Given the description of an element on the screen output the (x, y) to click on. 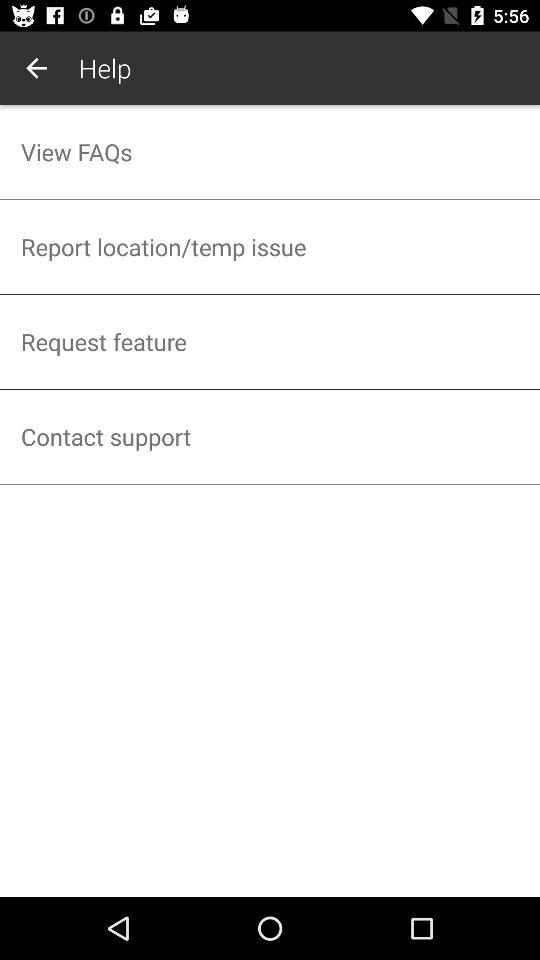
flip to the contact support (270, 436)
